Given the description of an element on the screen output the (x, y) to click on. 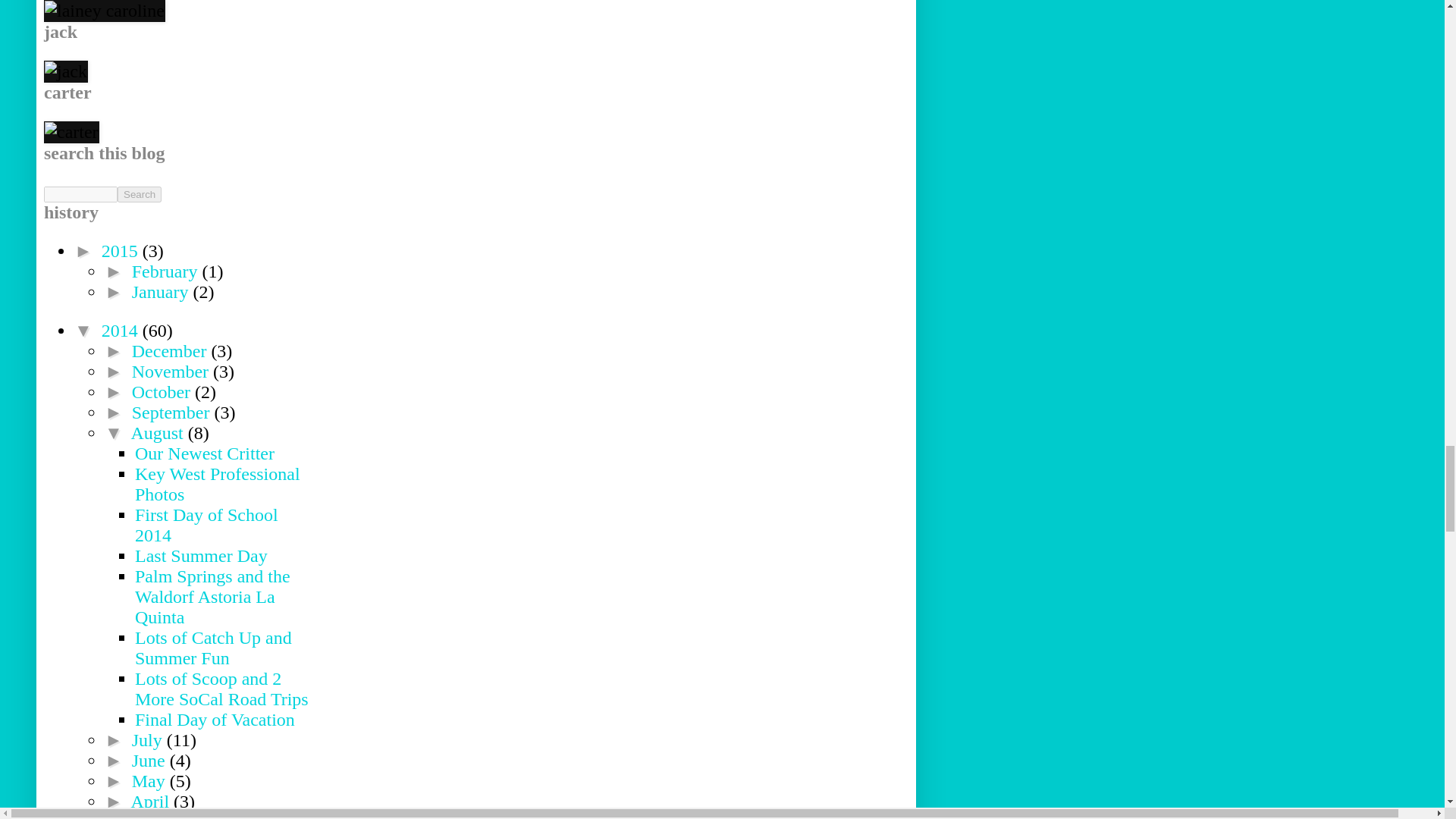
Search (139, 194)
Search (139, 194)
